Given the description of an element on the screen output the (x, y) to click on. 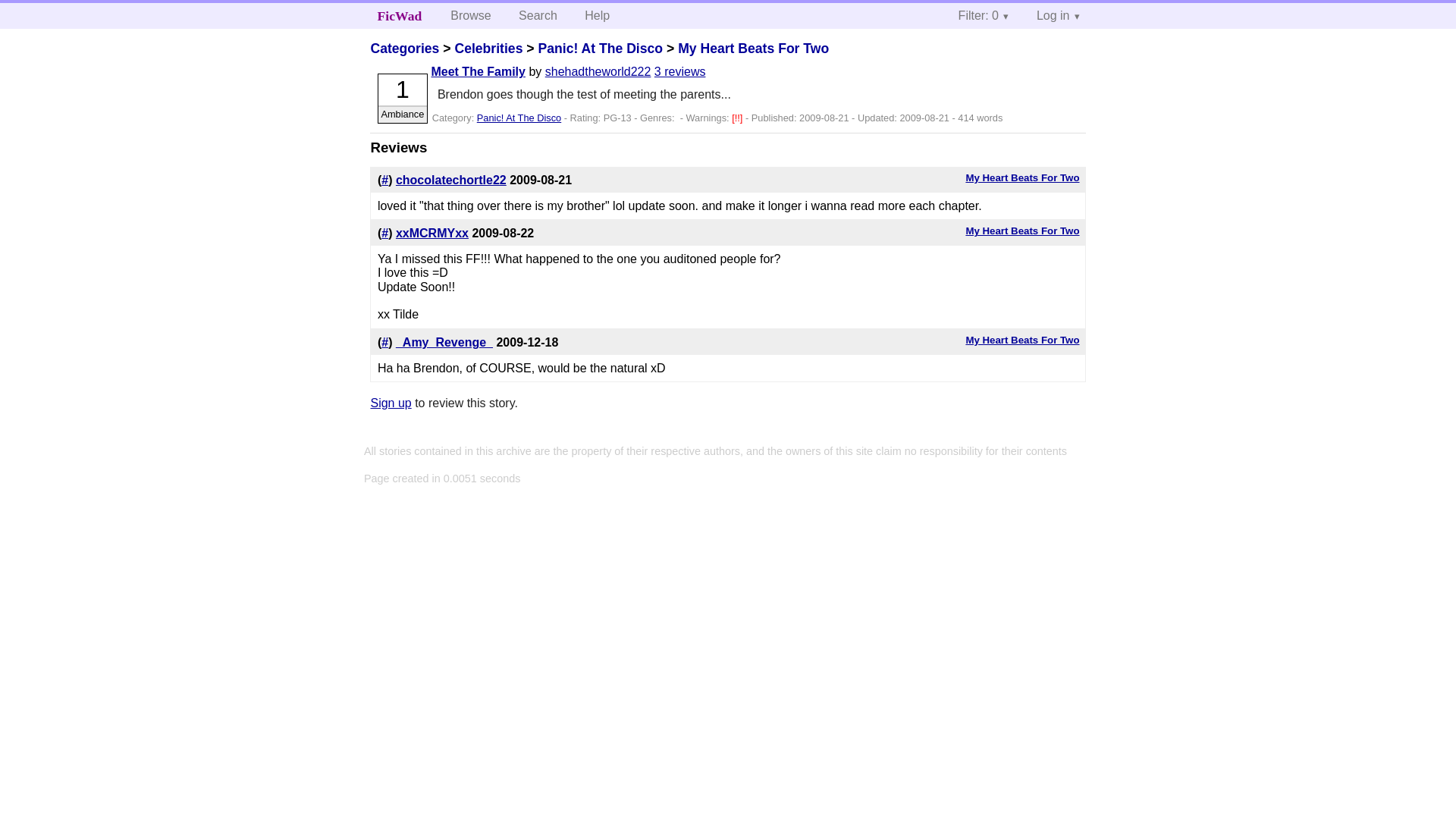
Search (537, 15)
shehadtheworld222 (597, 71)
My Heart Beats For Two (1021, 230)
Panic! At The Disco (599, 48)
Meet The Family (477, 71)
2009-08-22 01:03:47 (502, 232)
Filter: 0 (984, 15)
chocolatechortle22 (451, 179)
Medium Spoilers (738, 117)
Help (596, 15)
3 reviews (679, 71)
My Heart Beats For Two (1021, 177)
My Heart Beats For Two (753, 48)
2009-12-18 20:14:17 (526, 341)
My Heart Beats For Two (1021, 339)
